Given the description of an element on the screen output the (x, y) to click on. 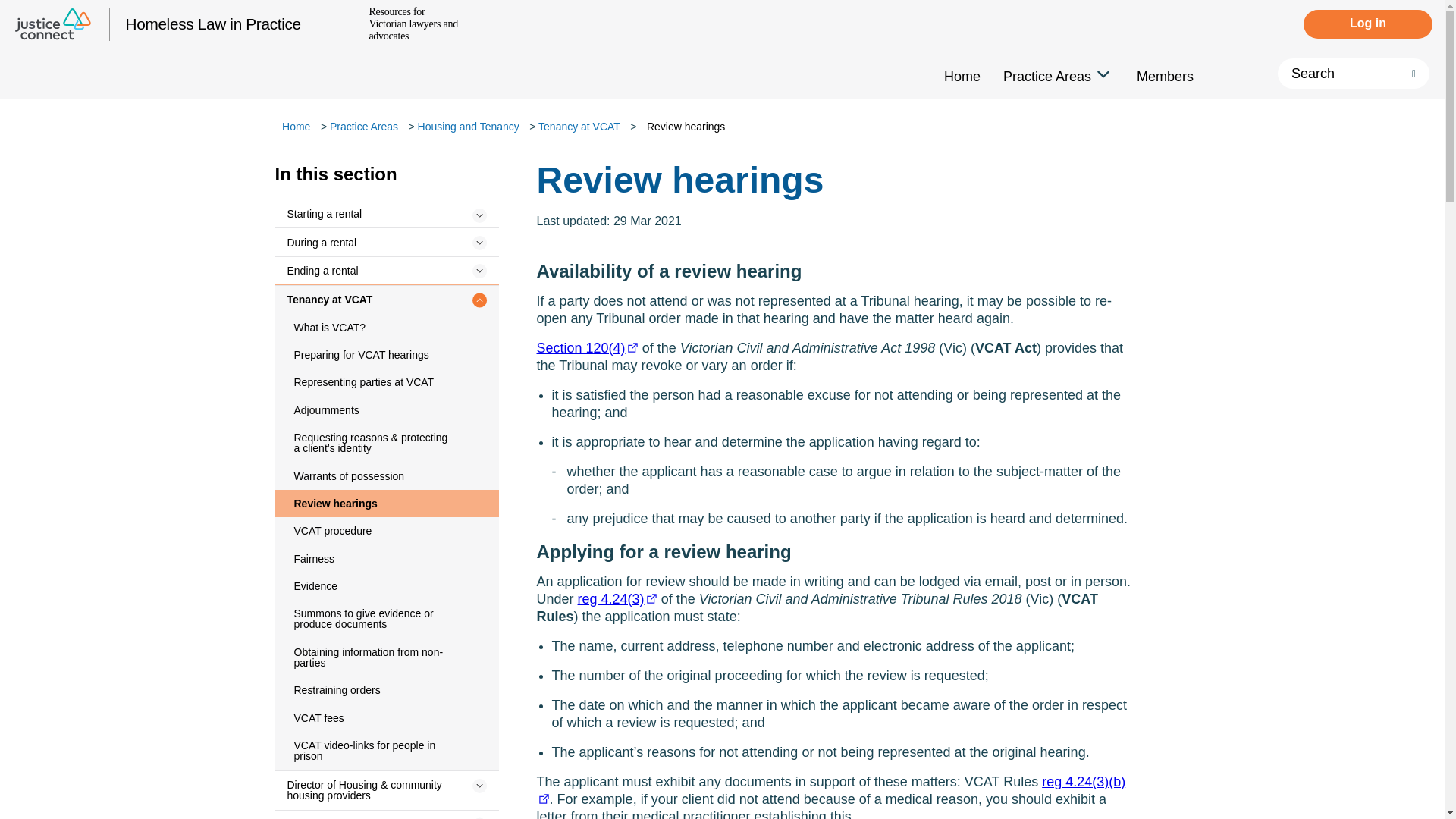
Members (1165, 80)
Starting a rental (386, 213)
Log in (1367, 23)
Toggle menu (480, 271)
Practice Areas (363, 114)
Toggle menu (480, 242)
Home (962, 80)
For Homeless Law Pro Bono Lawyers (1078, 203)
Justice Connect logo (54, 27)
During a rental (386, 241)
